Given the description of an element on the screen output the (x, y) to click on. 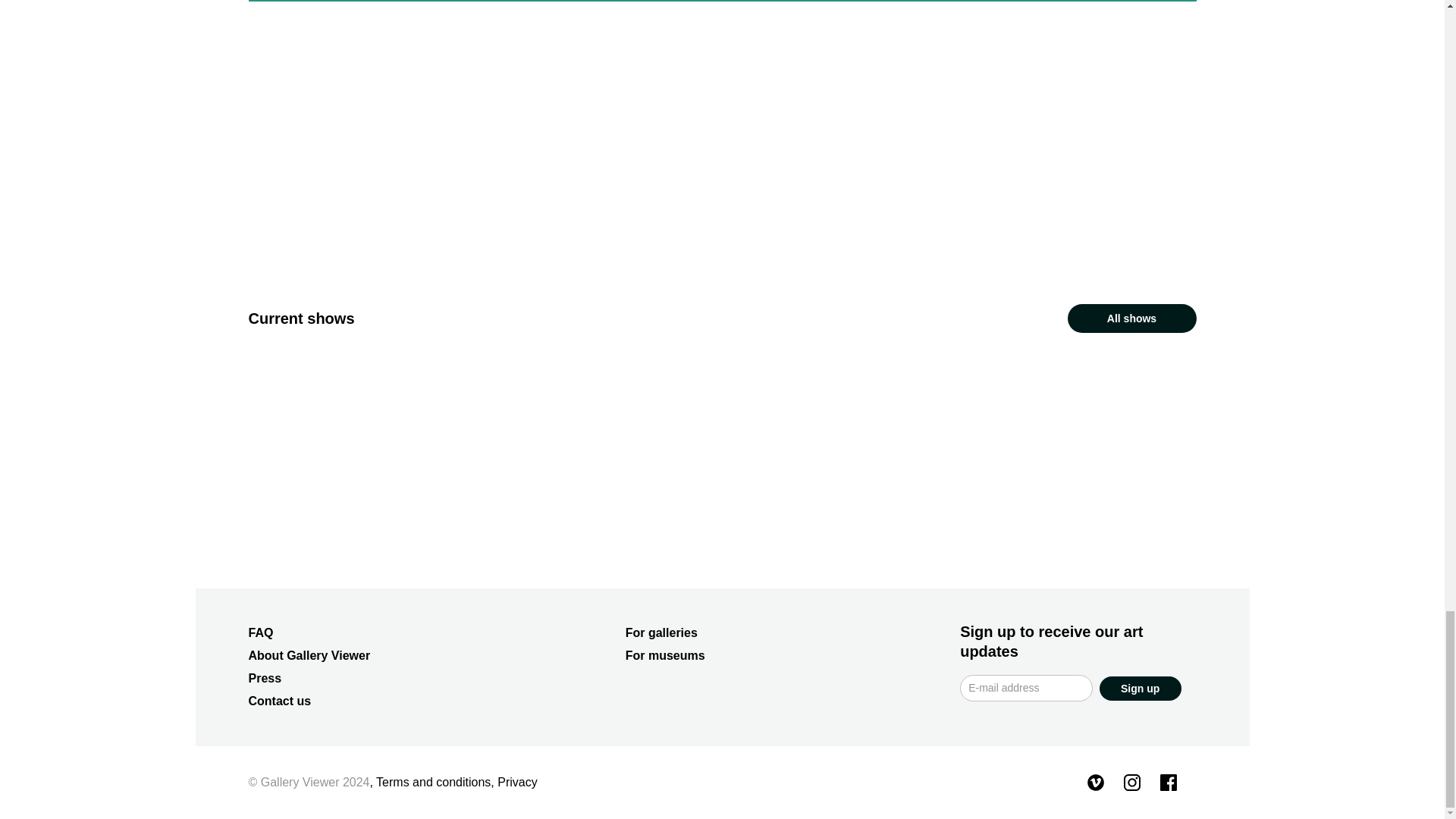
About Gallery Viewer (309, 655)
, Privacy (513, 781)
Press (265, 677)
For galleries (661, 632)
, Terms and conditions (430, 781)
For museums (665, 655)
FAQ (260, 632)
Sign up (1139, 688)
Contact us (279, 700)
All shows (1131, 317)
